Given the description of an element on the screen output the (x, y) to click on. 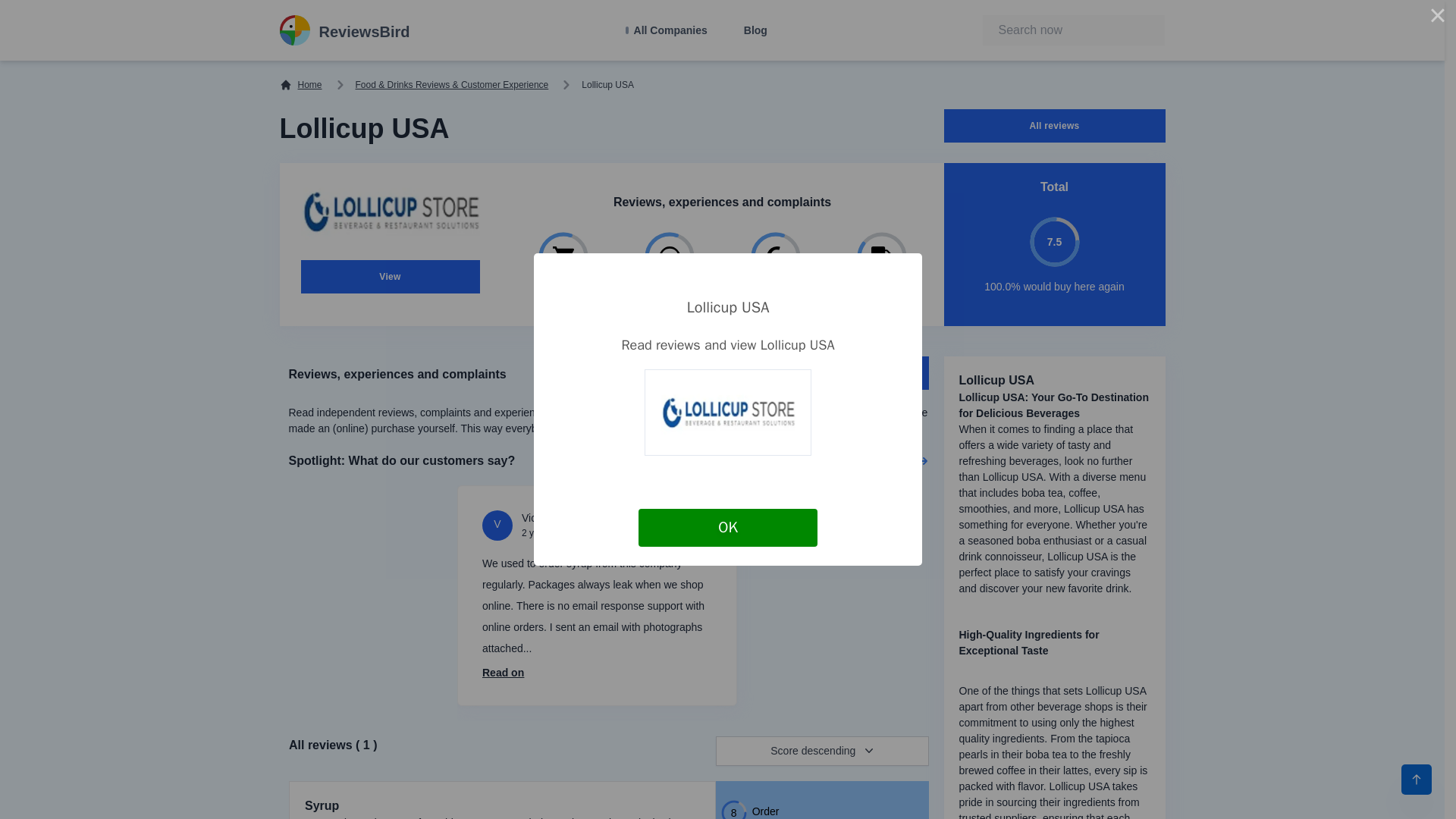
ReviewsBird (344, 30)
ReviewsBird (344, 30)
All Companies (666, 30)
Home (300, 84)
Blog (755, 30)
All reviews (1053, 125)
Blog (755, 30)
All Companies (666, 30)
